Given the description of an element on the screen output the (x, y) to click on. 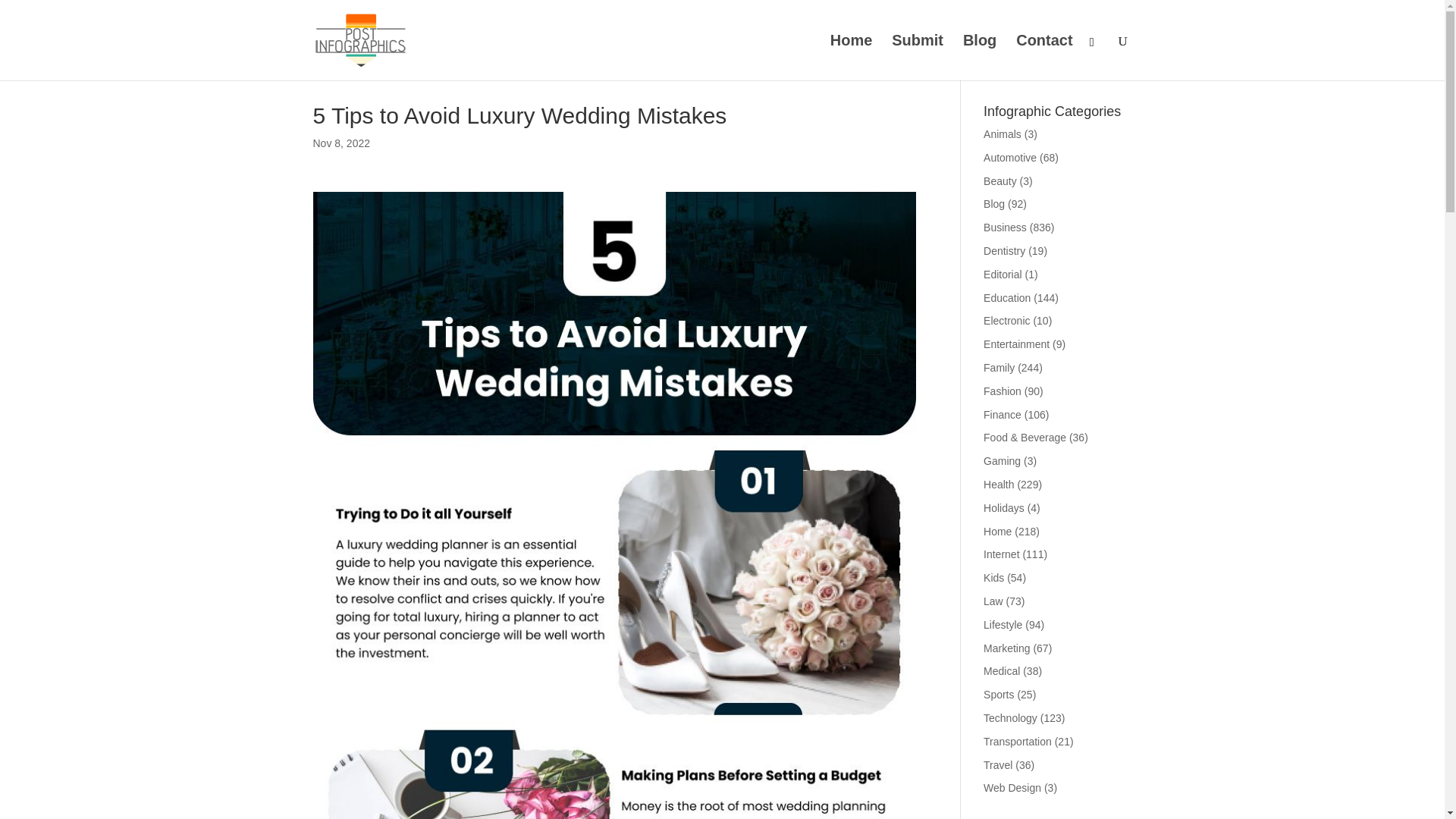
Animals (1003, 133)
Home (997, 531)
Medical (1002, 671)
Submit (917, 57)
Blog (994, 203)
Post Infographics (850, 57)
Gaming (1002, 460)
Education (1007, 297)
Automotive (1010, 157)
Lifestyle (1003, 624)
